Given the description of an element on the screen output the (x, y) to click on. 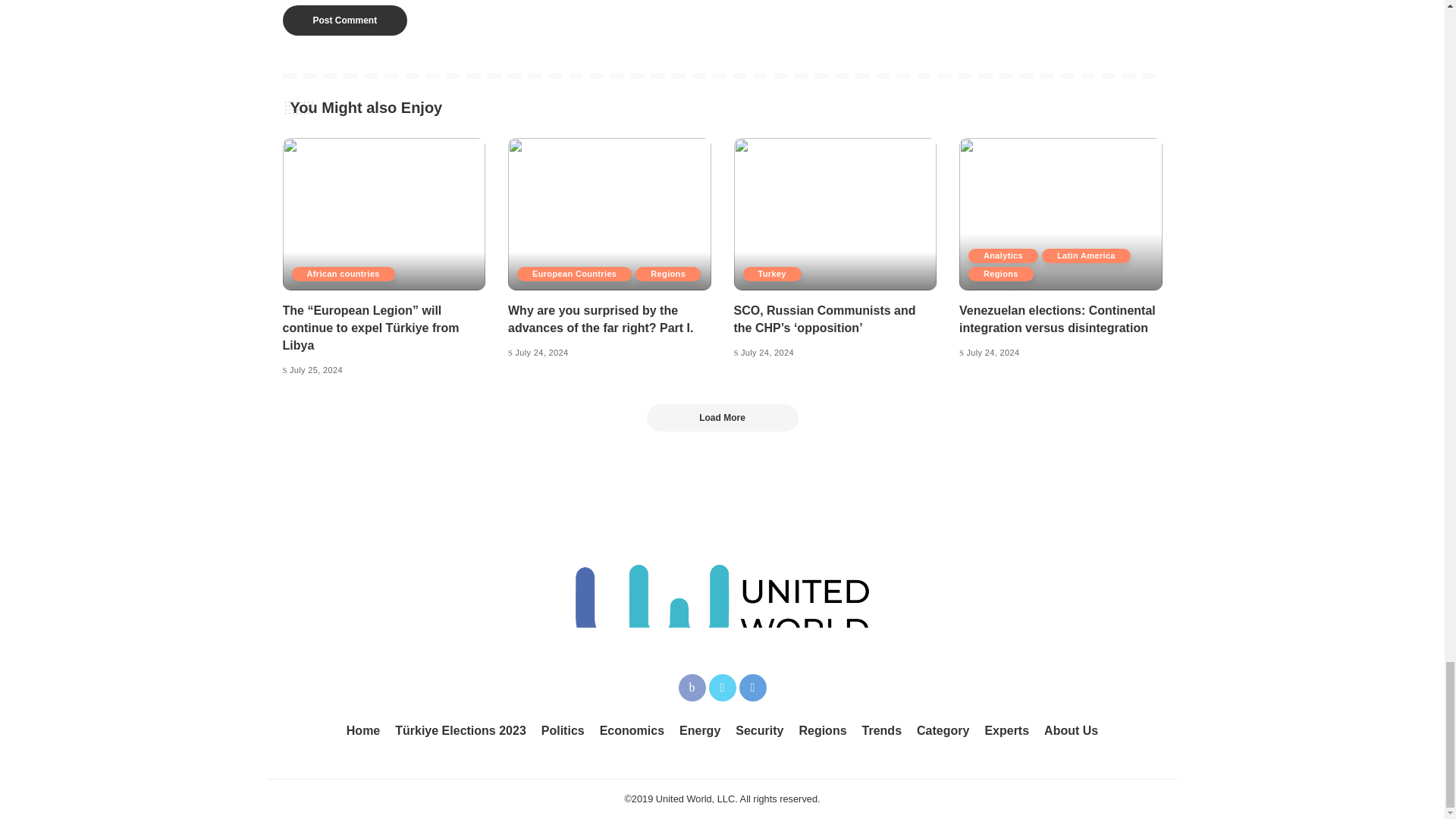
Post Comment (344, 20)
